Given the description of an element on the screen output the (x, y) to click on. 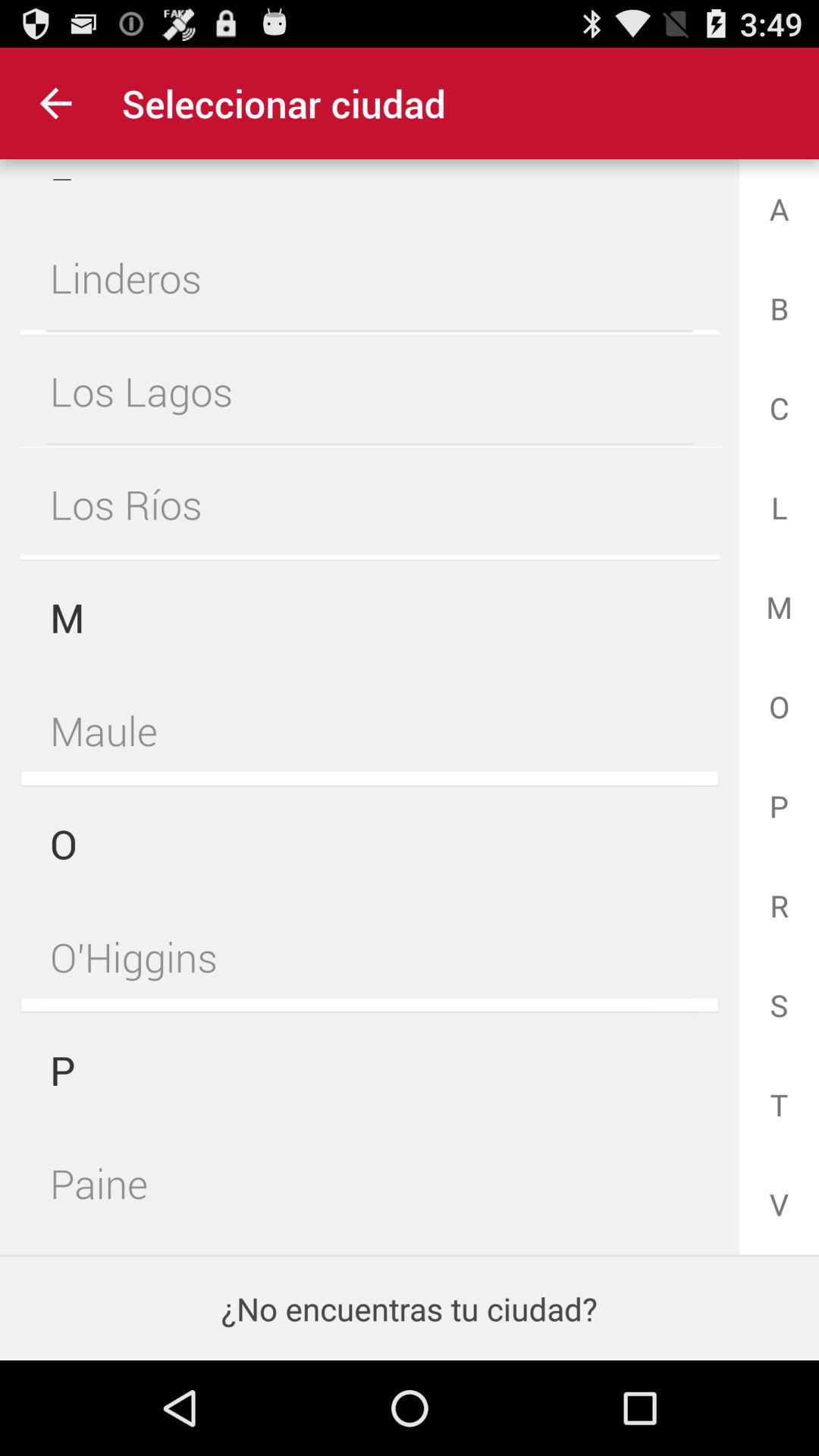
flip to the maule icon (369, 730)
